Given the description of an element on the screen output the (x, y) to click on. 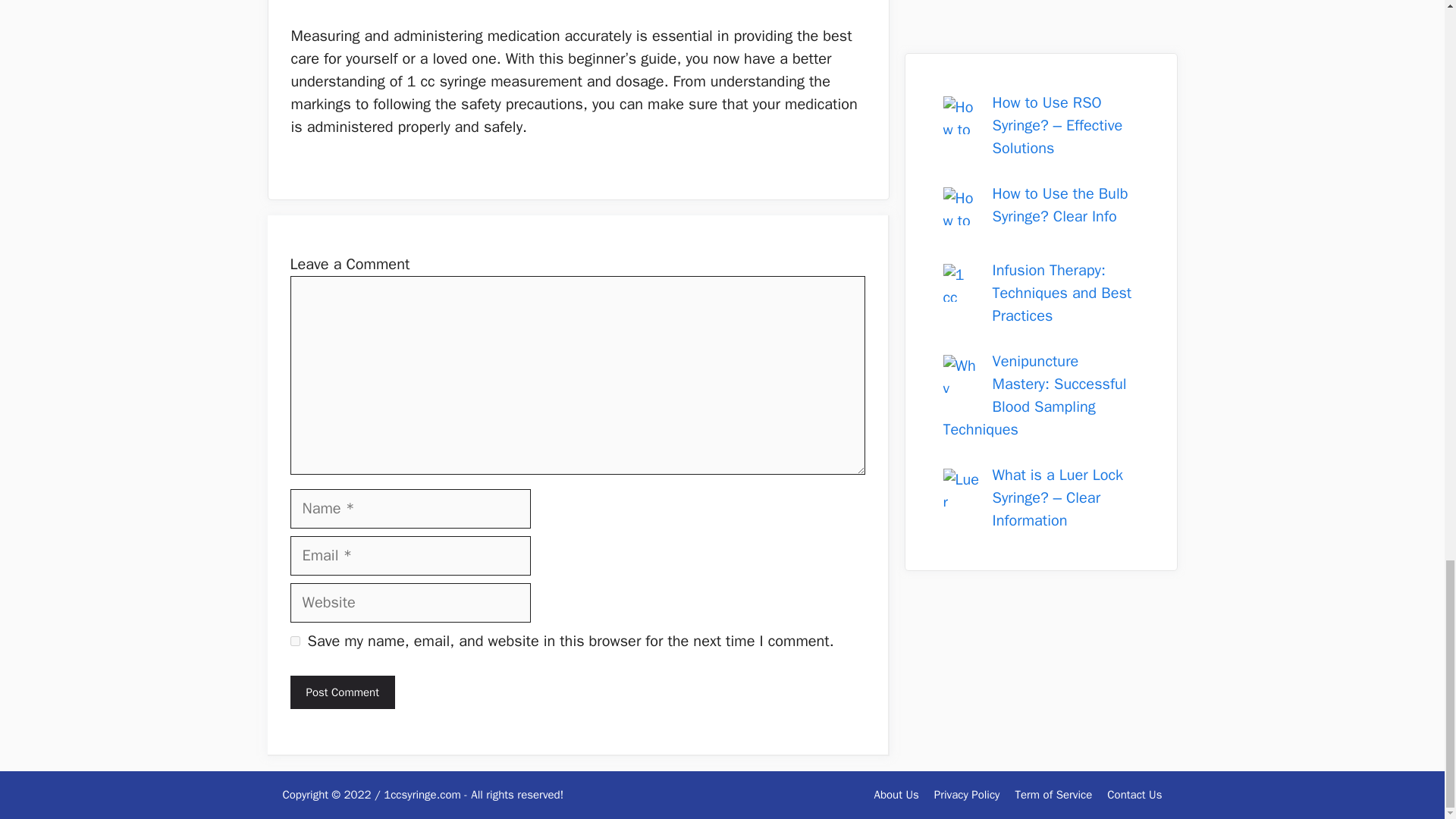
Post Comment (341, 692)
Term of Service (1053, 794)
About Us (895, 794)
Post Comment (341, 692)
Contact Us (1133, 794)
Privacy Policy (967, 794)
yes (294, 641)
